Given the description of an element on the screen output the (x, y) to click on. 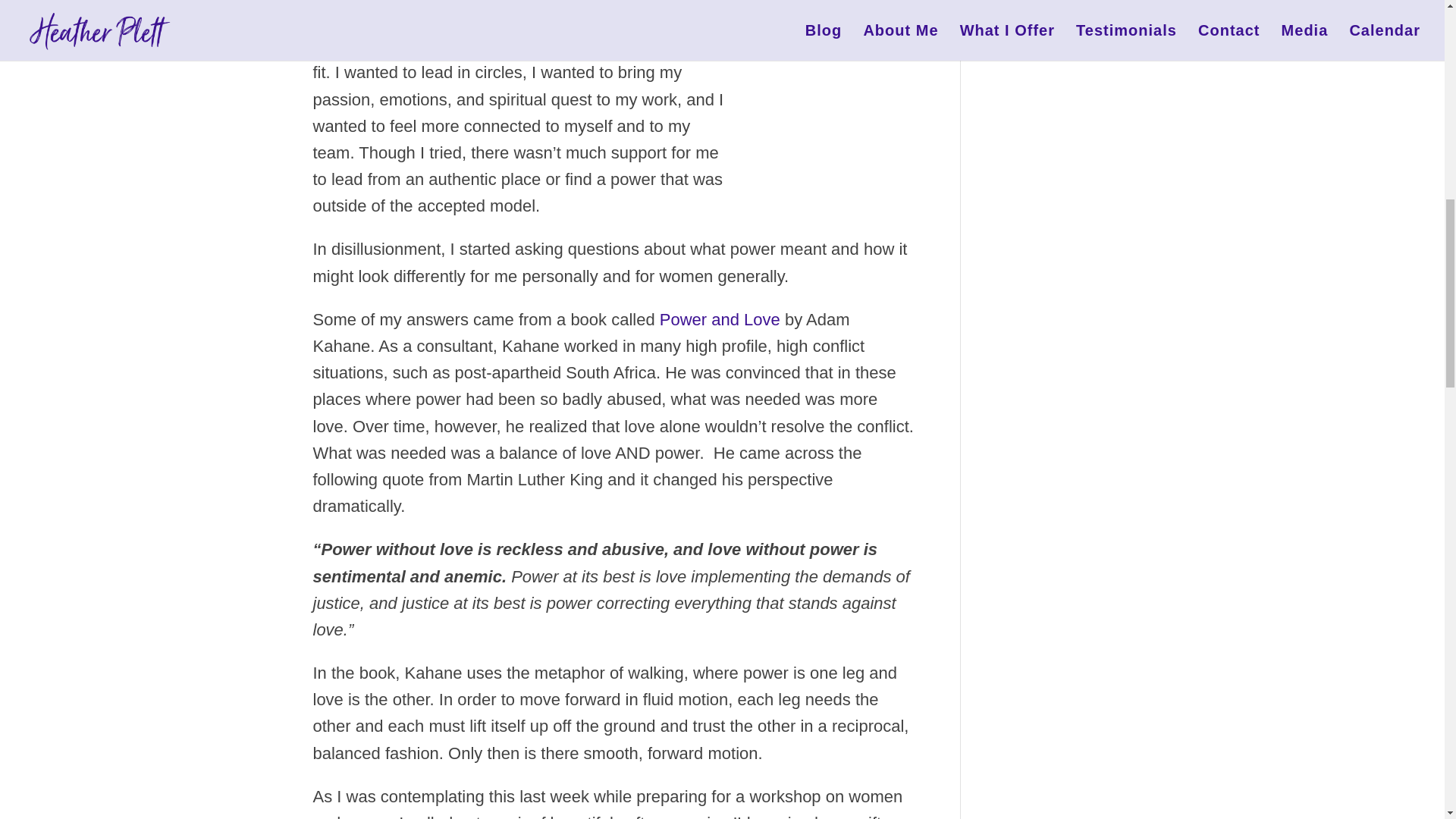
Power and Love (719, 319)
